Given the description of an element on the screen output the (x, y) to click on. 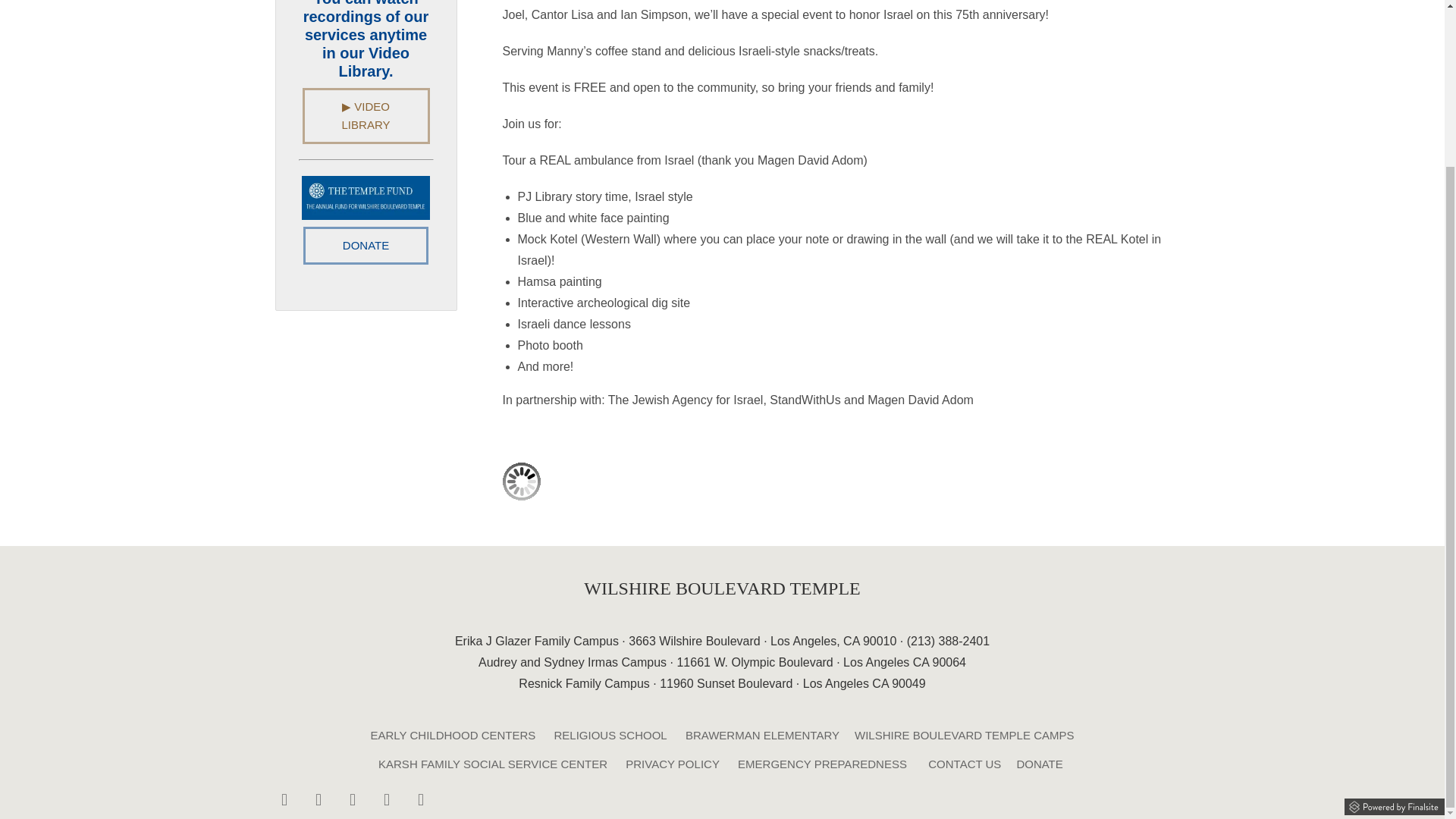
Twitter (386, 799)
EARLY CHILDHOOD CENTERS (452, 735)
Pinterest (419, 799)
EMERGENCY PREPAREDNESS (822, 763)
WILSHIRE BOULEVARD TEMPLE CAMPS (964, 735)
Facebook (284, 799)
KARSH FAMILY SOCIAL SERVICE CENTER (492, 763)
Instagram (318, 799)
RELIGIOUS SCHOOL (610, 735)
BRAWERMAN ELEMENTARY (762, 735)
DONATE (1039, 763)
PRIVACY POLICY (671, 763)
DONATE (365, 245)
CONTACT US (964, 763)
